Given the description of an element on the screen output the (x, y) to click on. 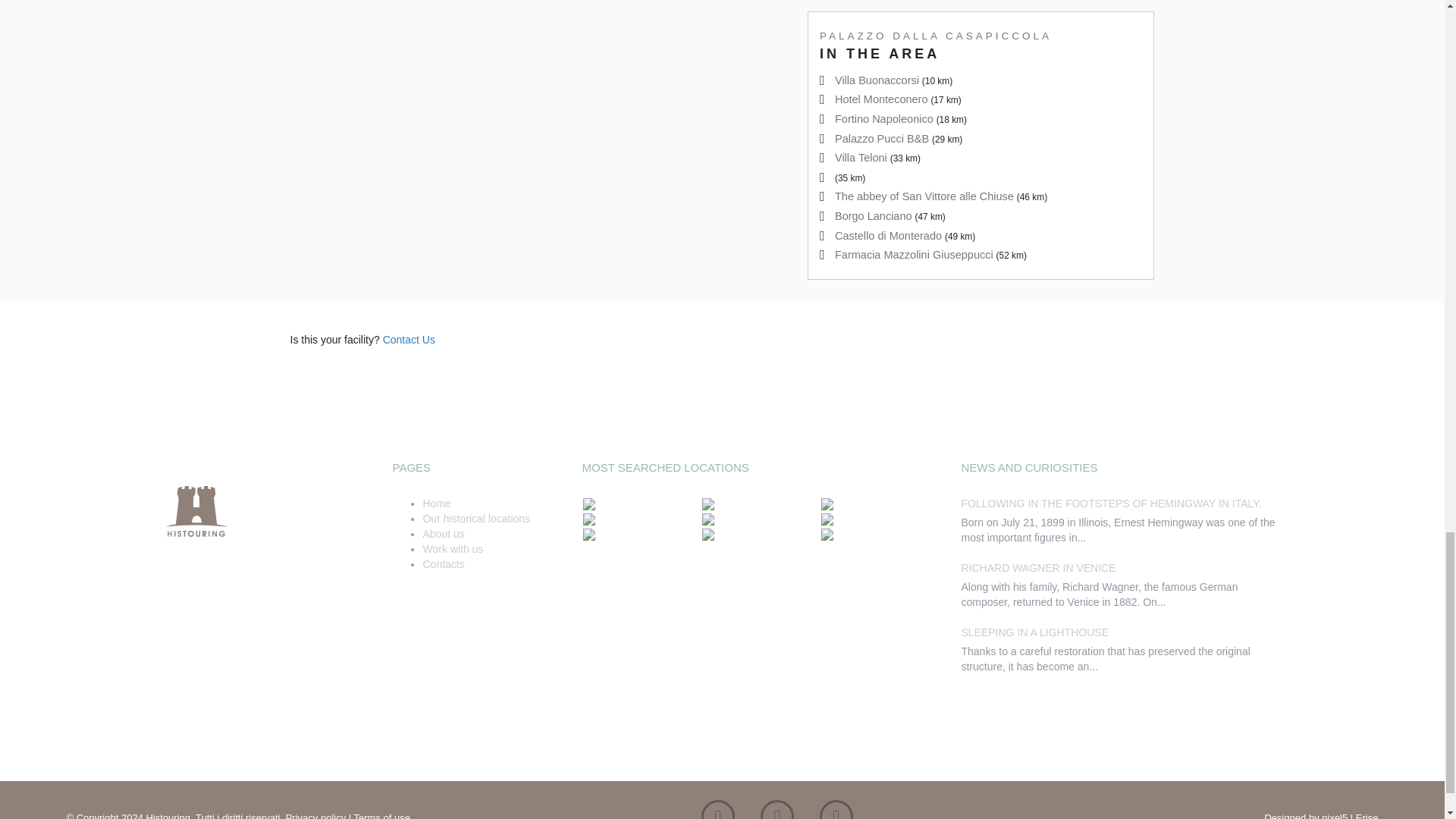
Borgo Lanciano (873, 215)
Hotel Monteconero (881, 99)
Castello di Monterado (888, 235)
Villa Buonaccorsi (876, 80)
The abbey of San Vittore alle Chiuse (923, 196)
Villa Teloni (860, 157)
Vai su Amazon (836, 816)
Fortino Napoleonico (883, 119)
